Given the description of an element on the screen output the (x, y) to click on. 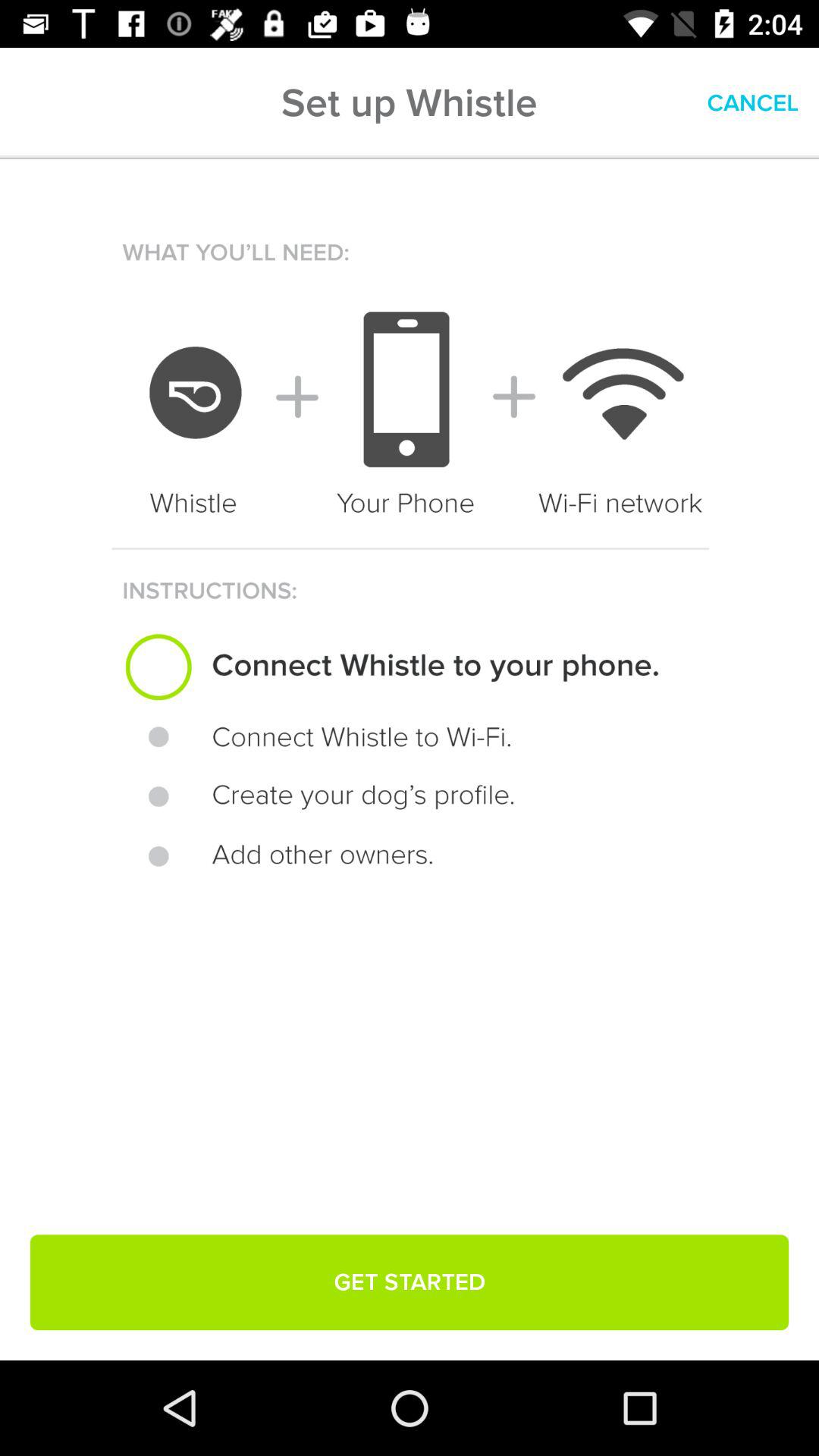
launch the icon to the right of set up whistle icon (753, 103)
